Given the description of an element on the screen output the (x, y) to click on. 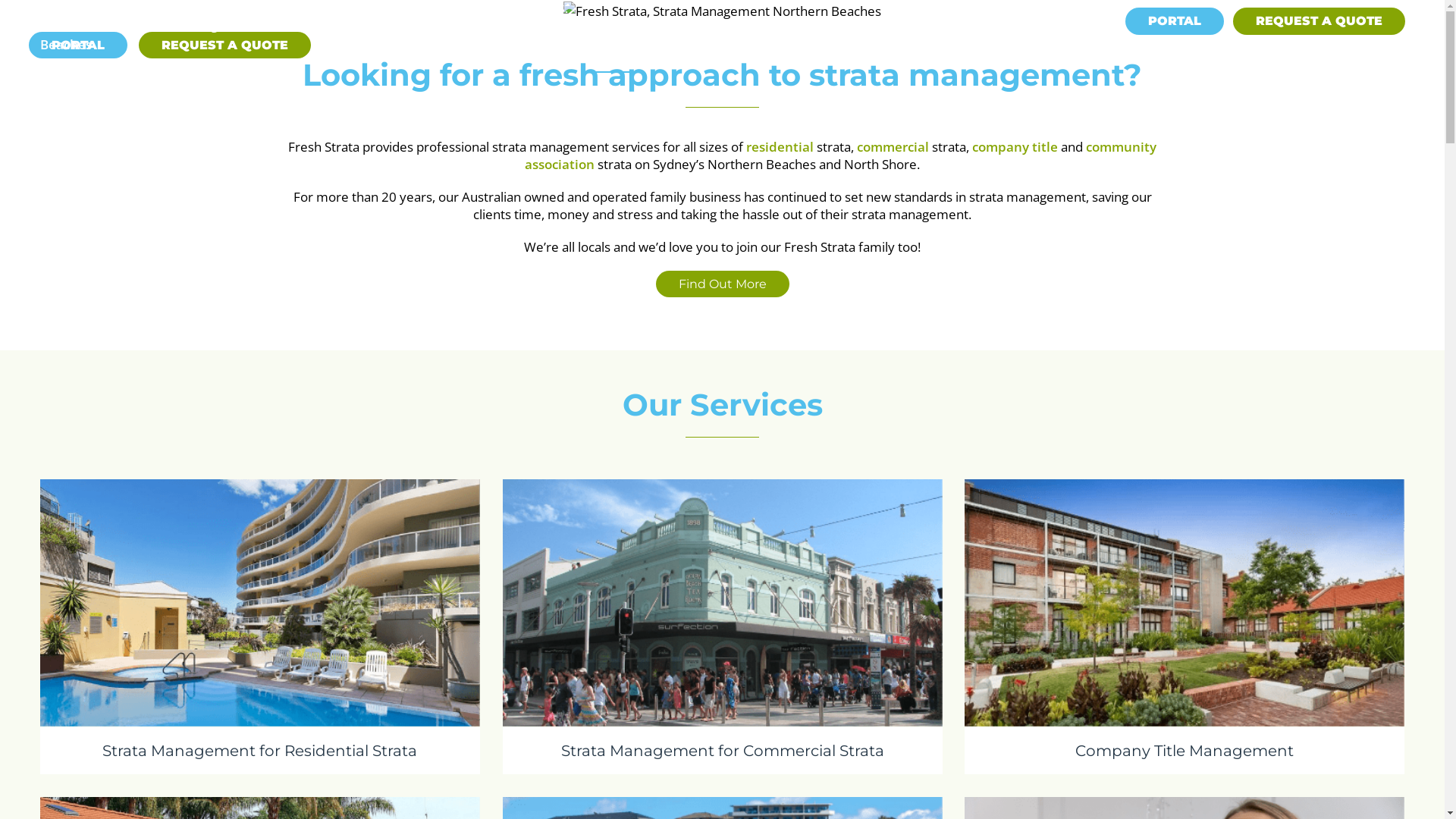
Find Out More Element type: text (721, 283)
PORTAL Element type: text (1174, 20)
REQUEST A QUOTE Element type: text (224, 44)
residential Element type: text (779, 146)
MEET THE TEAM Element type: text (1110, 57)
RESOURCES Element type: text (833, 57)
CONTACT US Element type: text (1351, 57)
HOME Element type: text (613, 57)
WHY CHOOSE US? Element type: text (968, 57)
company title Element type: text (1014, 146)
commercial Element type: text (892, 146)
02 9939 8061 Element type: text (1069, 20)
PORTAL Element type: text (77, 44)
NEWS & BLOGS Element type: text (1236, 57)
community association Element type: text (840, 155)
REQUEST A QUOTE Element type: text (1319, 20)
OUR SERVICES Element type: text (710, 57)
